Given the description of an element on the screen output the (x, y) to click on. 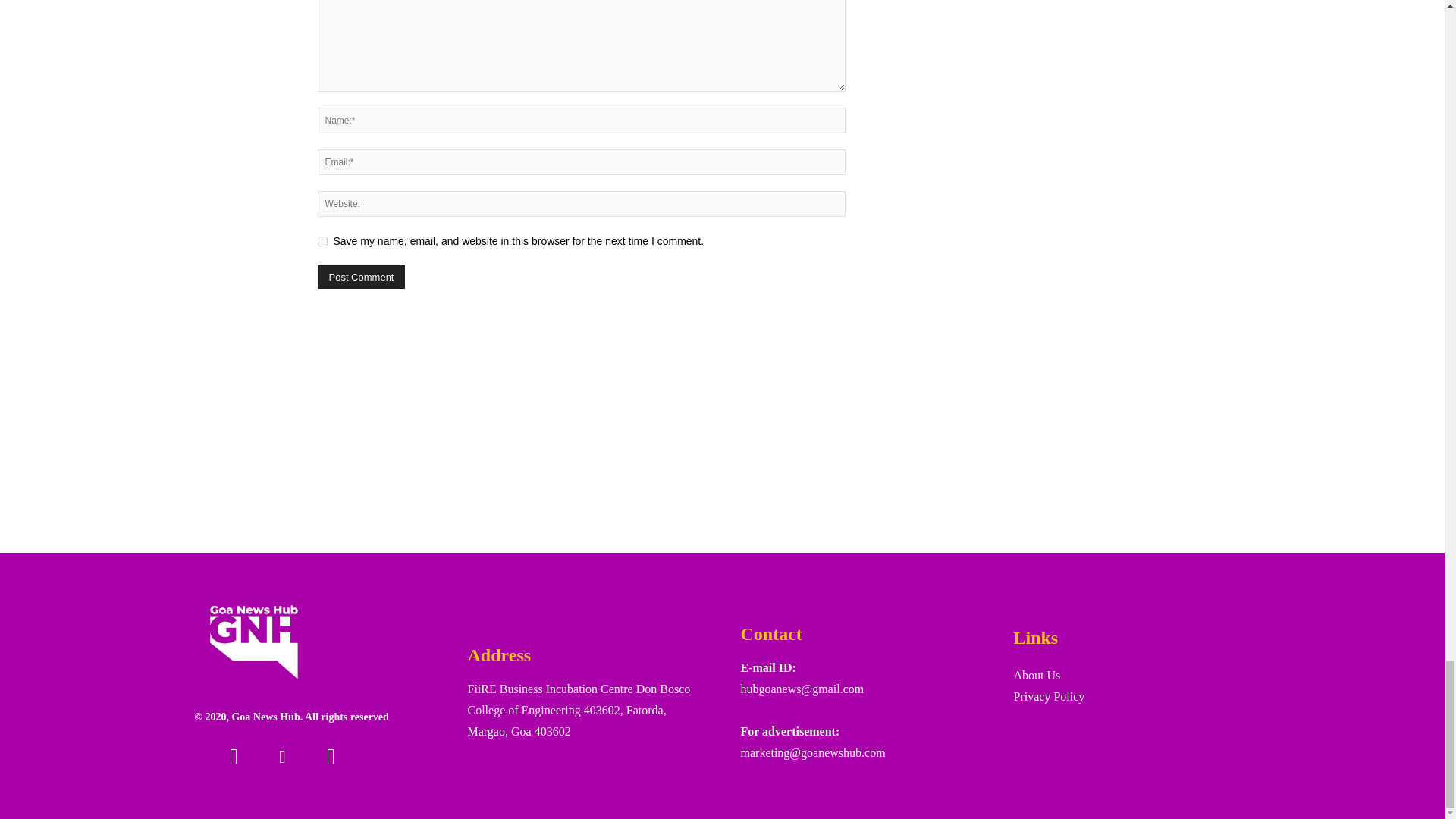
Post Comment (360, 277)
yes (321, 241)
